Given the description of an element on the screen output the (x, y) to click on. 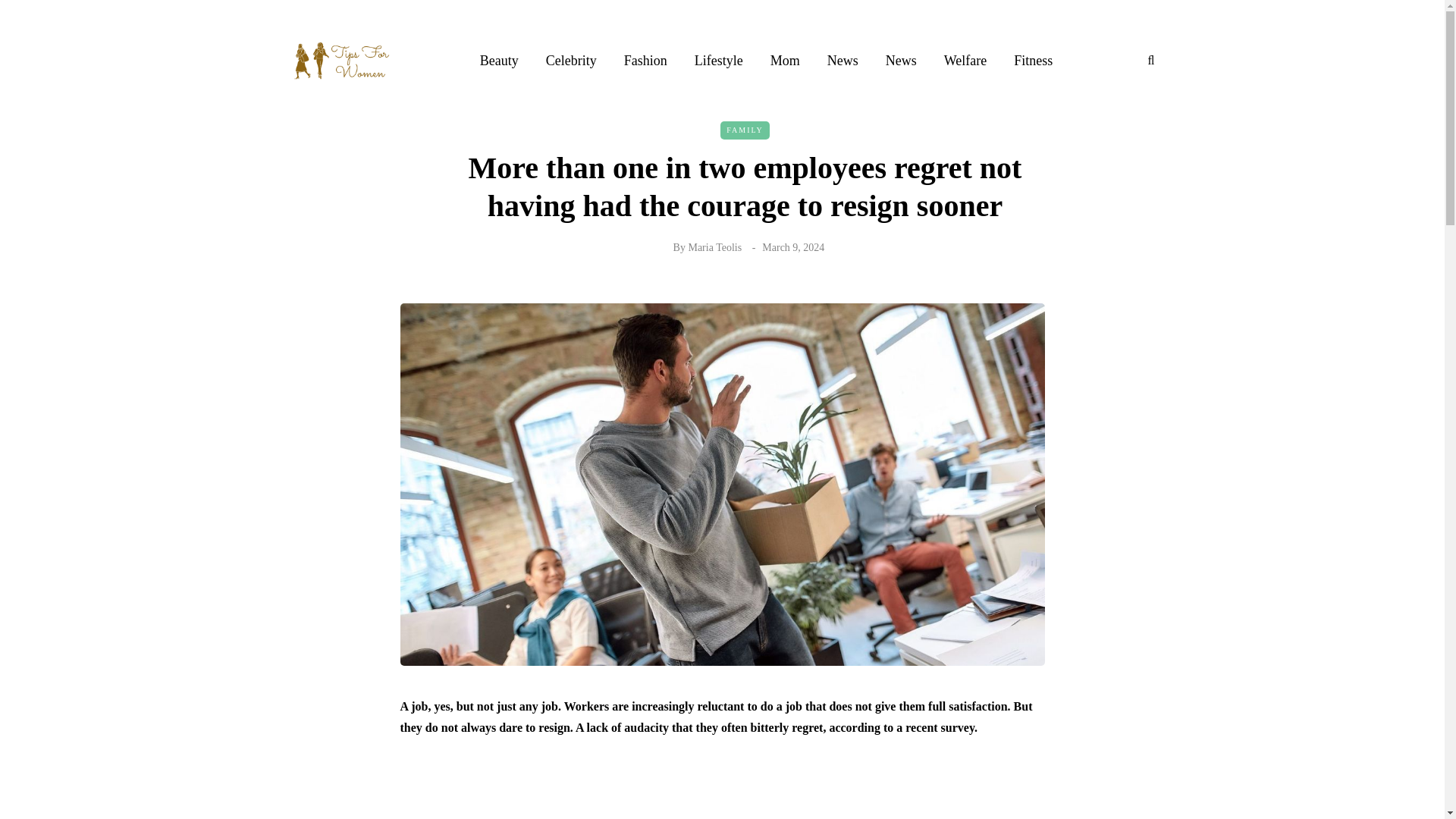
Fashion (645, 60)
Welfare (965, 60)
Beauty (498, 60)
Mom (785, 60)
Maria Teolis (714, 246)
News (842, 60)
Celebrity (571, 60)
News (901, 60)
Fitness (1032, 60)
Lifestyle (719, 60)
